Given the description of an element on the screen output the (x, y) to click on. 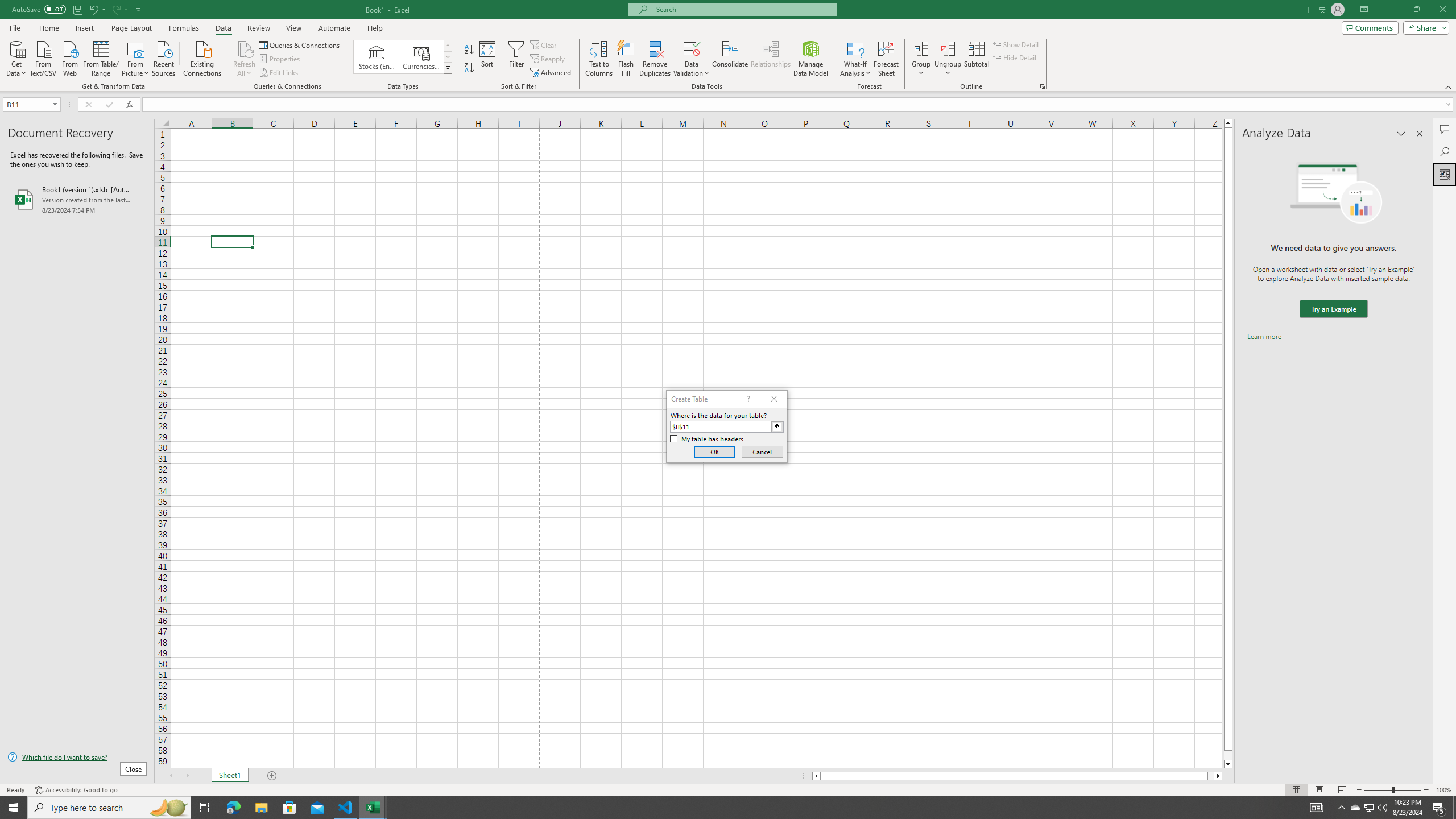
Existing Connections (202, 57)
From Web (69, 57)
Text to Columns... (598, 58)
Properties (280, 58)
Recent Sources (163, 57)
Hide Detail (1014, 56)
Manage Data Model (810, 58)
